Given the description of an element on the screen output the (x, y) to click on. 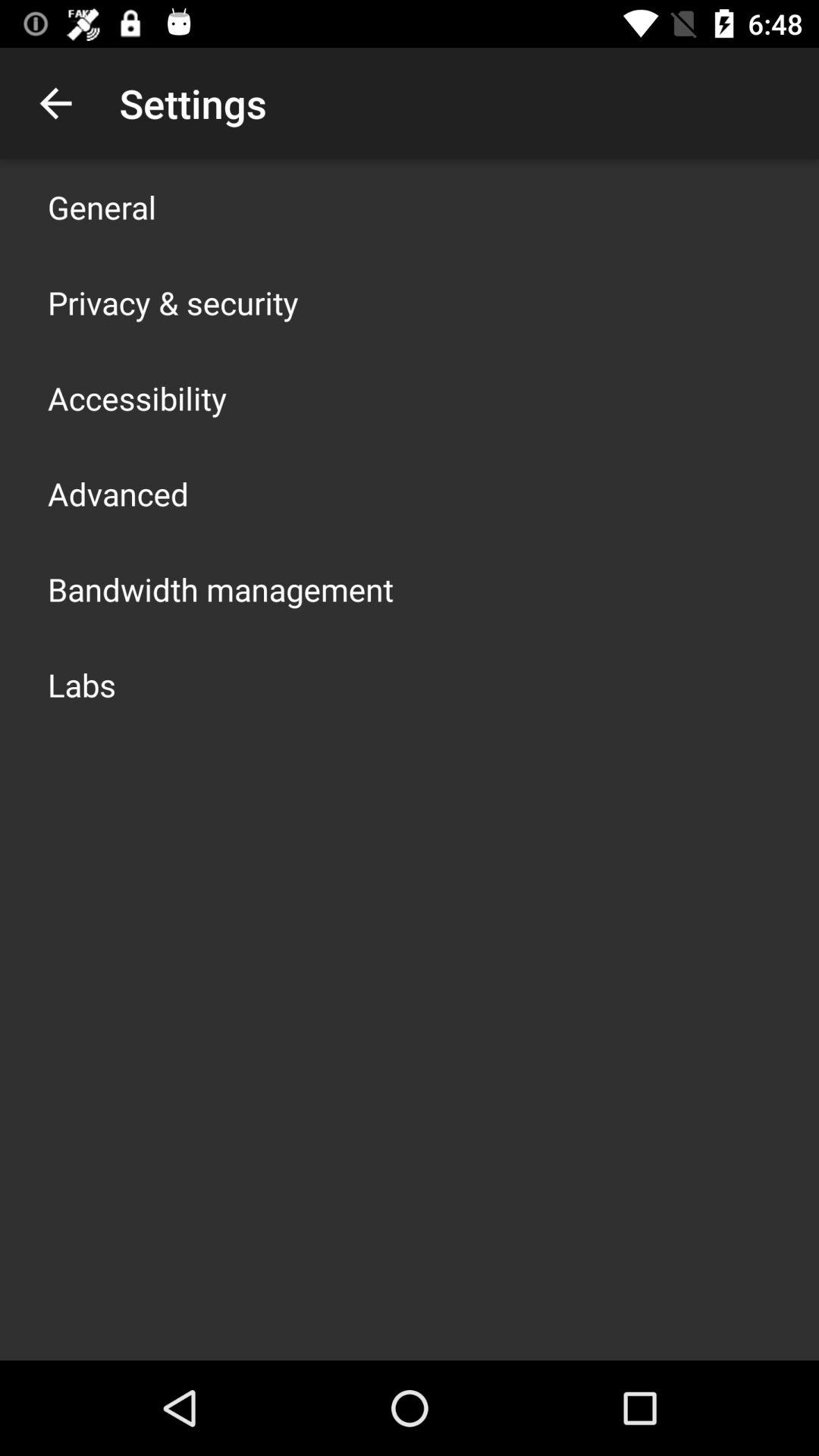
open the app above the bandwidth management icon (117, 493)
